Given the description of an element on the screen output the (x, y) to click on. 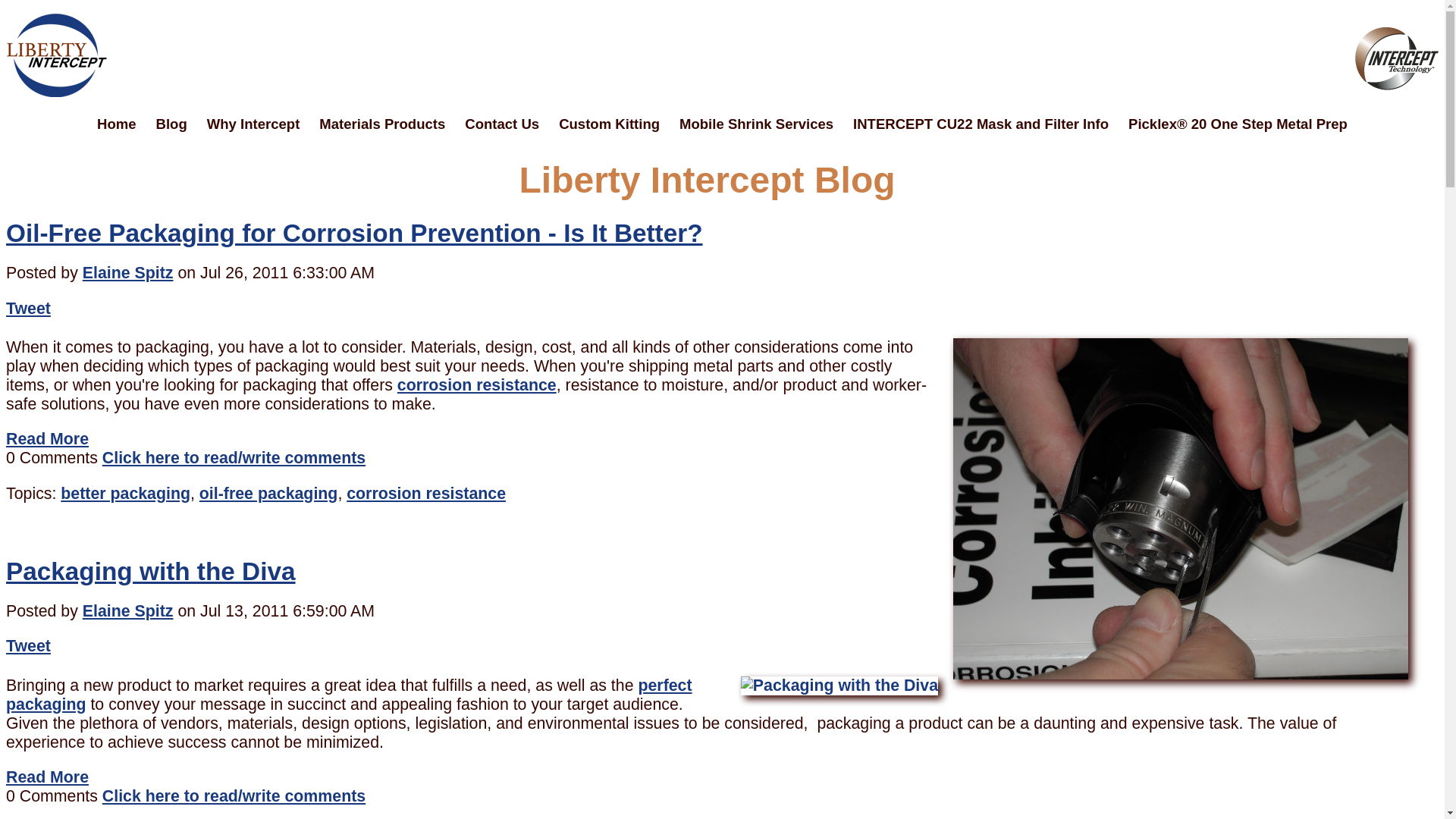
perfect packaging (349, 694)
Read More (46, 777)
Elaine Spitz (127, 272)
corrosion resistance (476, 384)
Oil-Free Packaging for Corrosion Prevention - Is It Better? (354, 233)
Elaine Spitz (127, 610)
Contact Us (501, 125)
oil-free packaging (268, 493)
Read More (46, 438)
INTERCEPT CU22 Mask and Filter Info (980, 125)
Packaging with the Diva (150, 571)
Tweet (27, 308)
corrosion resistance (425, 493)
Mobile Shrink Services (756, 125)
Blog (171, 125)
